Given the description of an element on the screen output the (x, y) to click on. 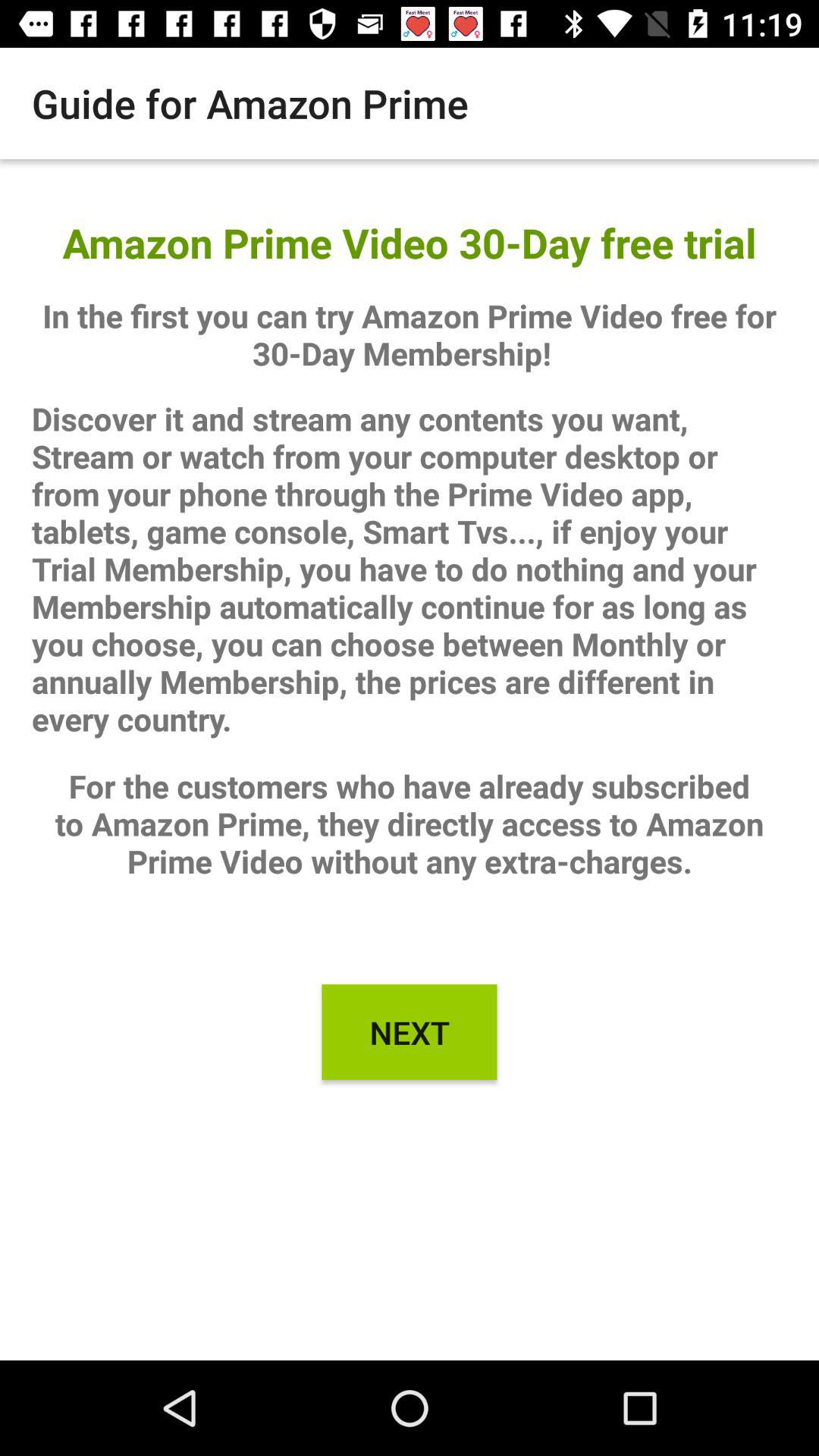
tap next icon (409, 1032)
